Given the description of an element on the screen output the (x, y) to click on. 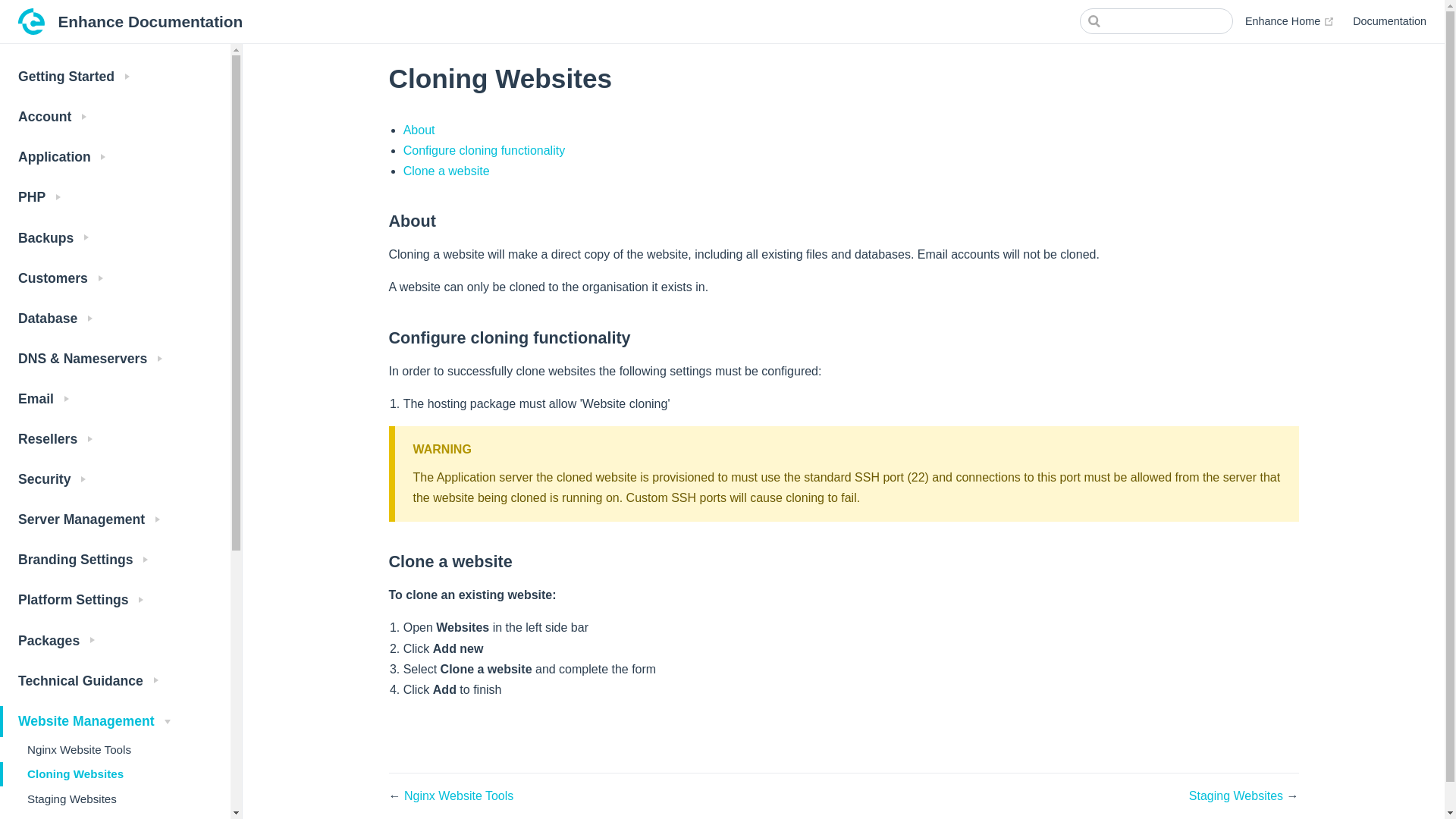
Backups (115, 237)
Application (115, 157)
Email (115, 399)
Getting Started (115, 77)
Packages (115, 640)
Server Management (115, 520)
Documentation (1389, 21)
Website Management (115, 721)
Resellers (115, 439)
Branding Settings (115, 560)
Service Websites (115, 815)
Cloning Websites (115, 774)
Security (115, 480)
Customers (115, 278)
Nginx Website Tools (115, 749)
